Given the description of an element on the screen output the (x, y) to click on. 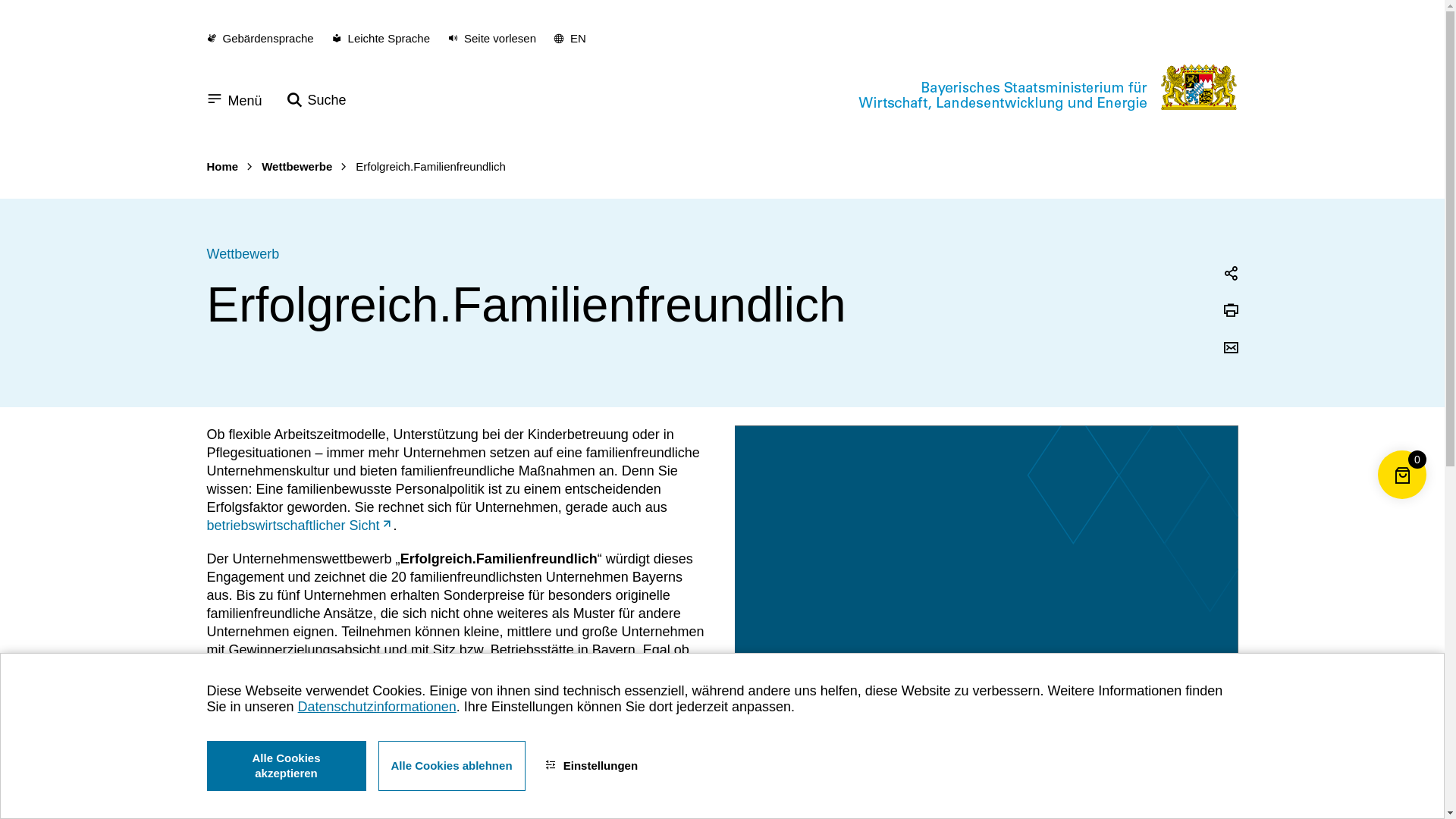
0 Element type: text (1401, 498)
Einstellungen Element type: text (591, 765)
Home Element type: text (222, 166)
Wettbewerb Element type: text (242, 253)
betriebswirtschaftlicher Sicht Element type: text (299, 525)
Datenschutzinformationen Element type: text (377, 707)
Seite drucken Element type: hover (1229, 311)
Suche Element type: text (316, 99)
Wettbewerbe Element type: text (296, 166)
Alle Cookies ablehnen Element type: text (450, 765)
Seite vorlesen Element type: text (492, 38)
Erfolgreich.Familienfreundlich Element type: text (430, 166)
EN Element type: text (570, 38)
Leichte Sprache Element type: text (380, 38)
Seitenlink in die Zwischenablage kopieren Element type: hover (1229, 274)
Alle Cookies akzeptieren Element type: text (285, 765)
Seite per Email versenden Element type: hover (1229, 348)
